Given the description of an element on the screen output the (x, y) to click on. 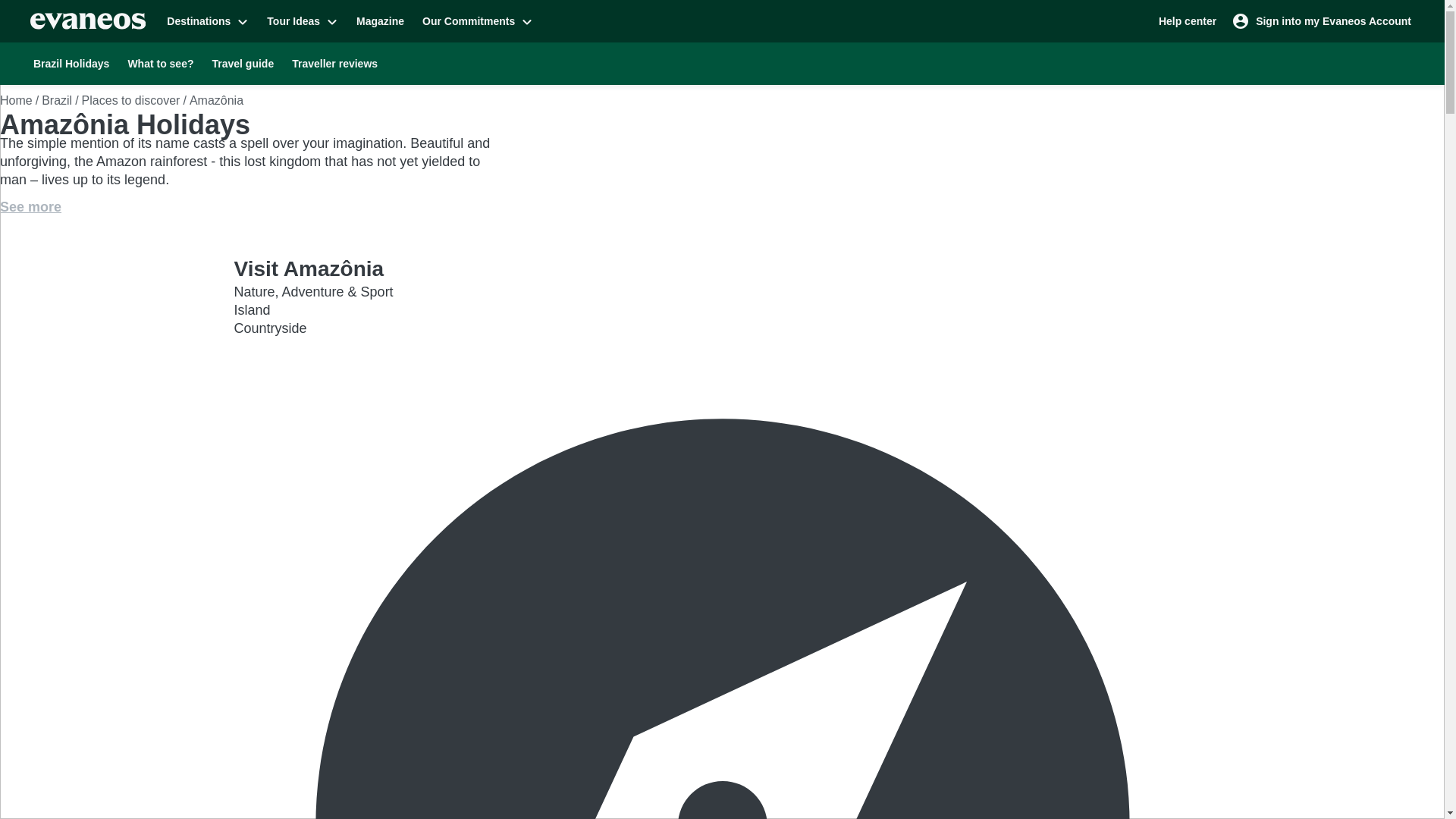
Home (16, 100)
Travel guide (243, 63)
Brazil (56, 100)
Traveller reviews (334, 63)
Tour Ideas (302, 20)
See more (30, 207)
Evaneos (87, 21)
Destinations (207, 20)
Places to discover (130, 100)
Sign into my Evaneos Account (1323, 20)
